Given the description of an element on the screen output the (x, y) to click on. 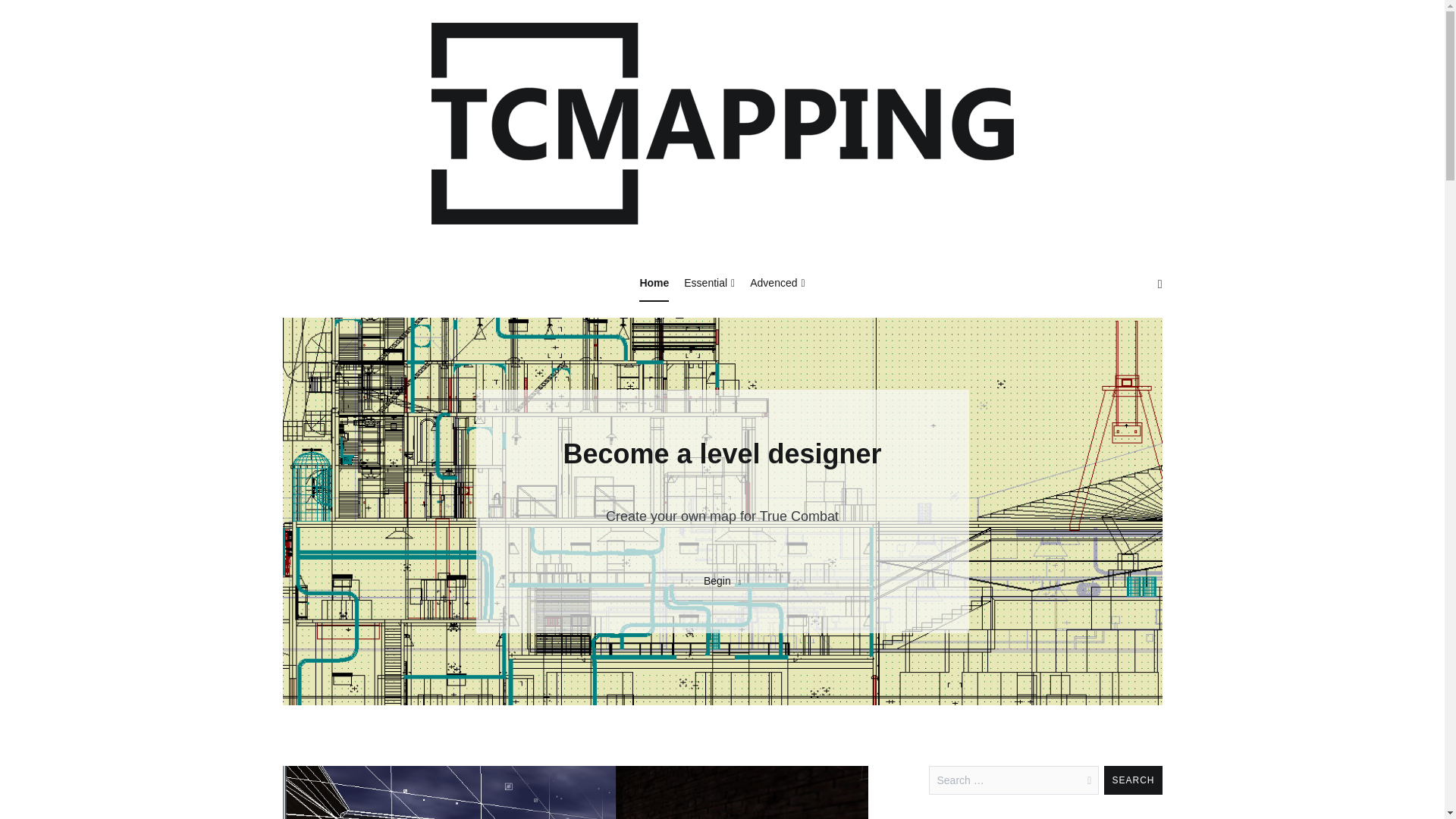
Essential (709, 283)
Search (1132, 779)
Search (1132, 779)
TCMapping (473, 261)
Begin (722, 580)
Advenced (777, 283)
